Given the description of an element on the screen output the (x, y) to click on. 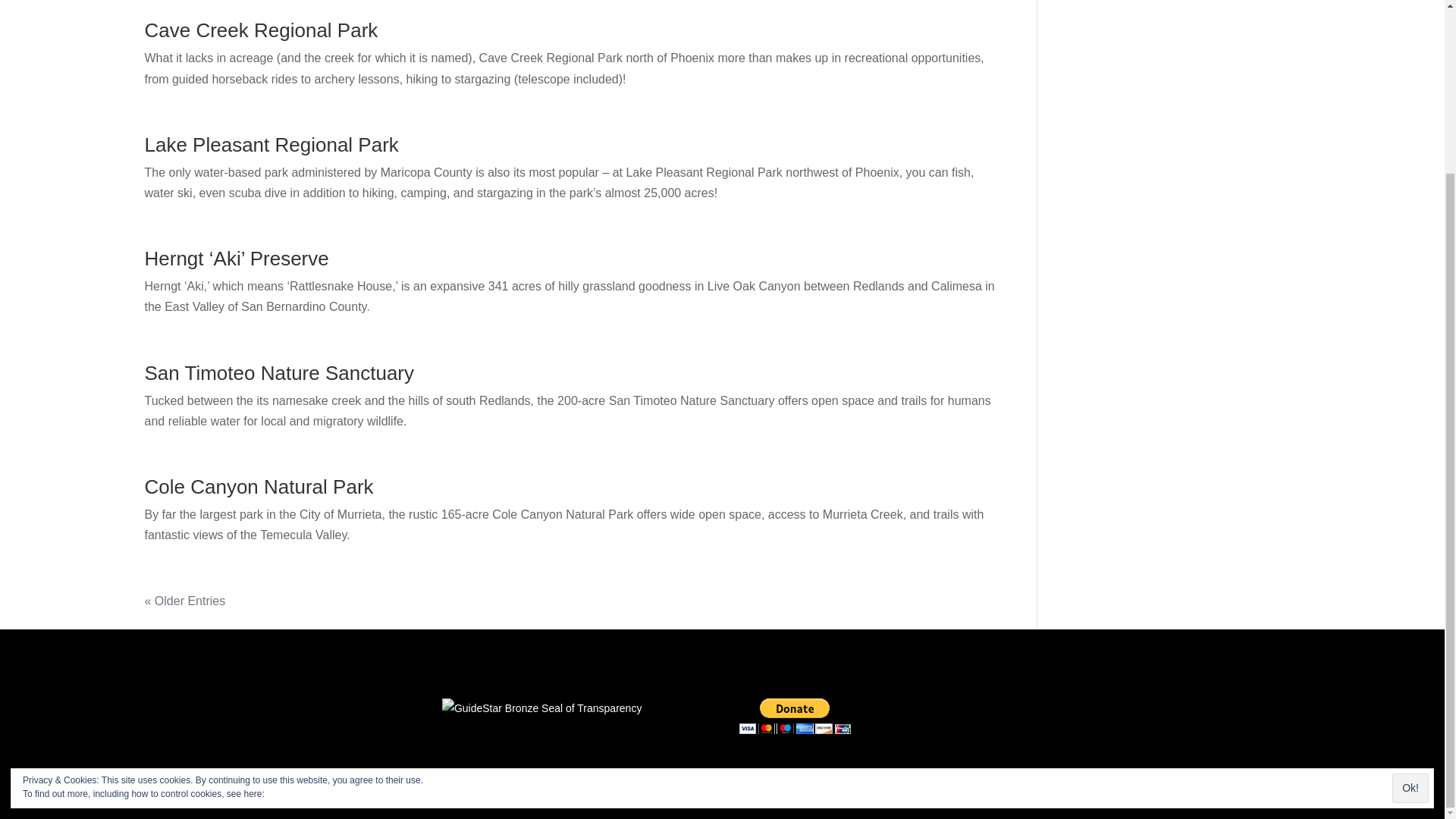
PayPal - The safer, easier way to pay online! (794, 715)
San Timoteo Nature Sanctuary (278, 372)
Privacy Policy (294, 583)
Ok! (1409, 577)
Lake Pleasant Regional Park (270, 144)
Ok! (1409, 577)
Cole Canyon Natural Park (258, 486)
Cave Creek Regional Park (260, 29)
